Given the description of an element on the screen output the (x, y) to click on. 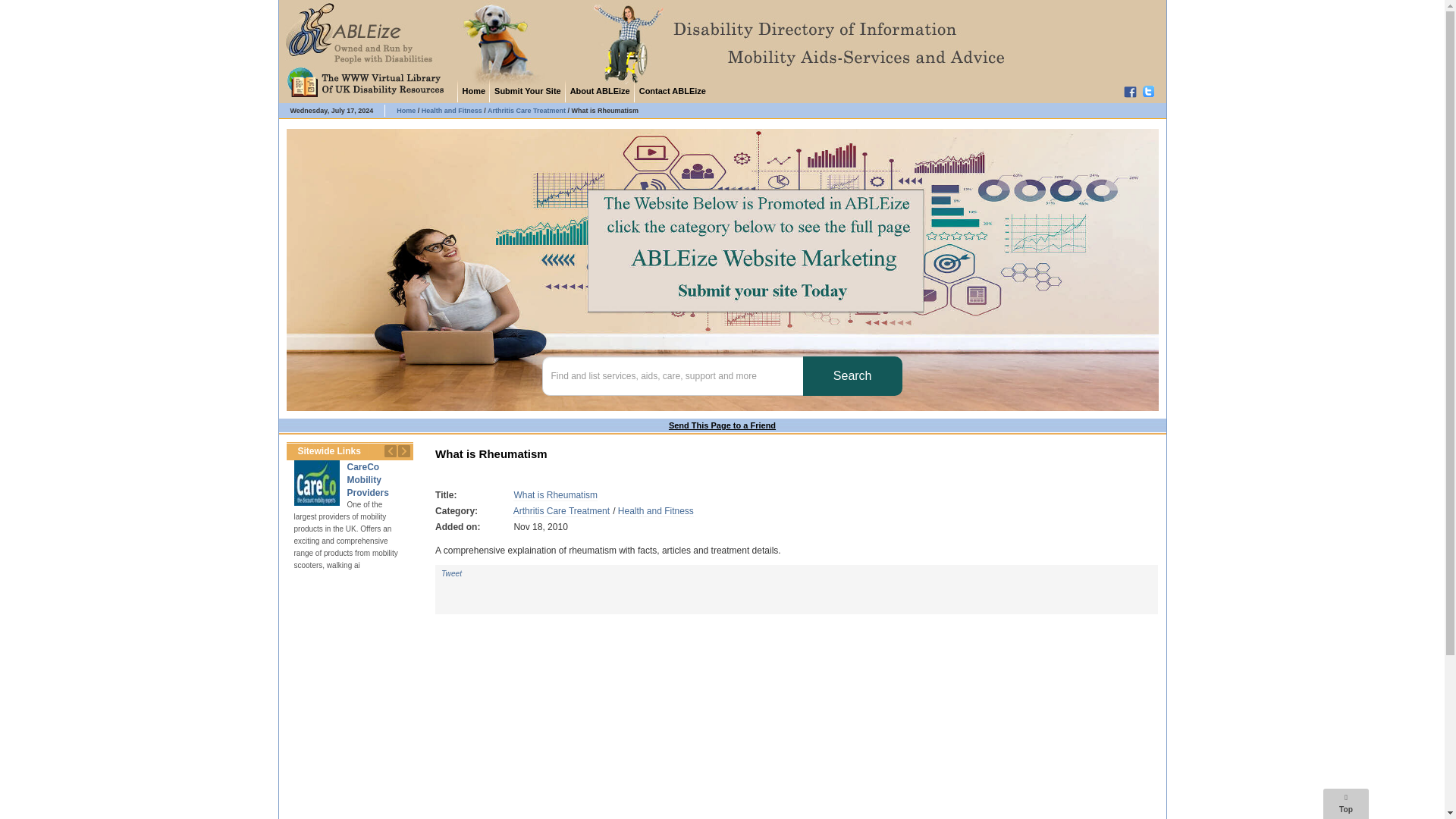
Health and Fitness (451, 110)
Home (405, 110)
Search (852, 375)
Contact ABLEize (672, 90)
Health and Fitness (655, 511)
Search (852, 375)
Twitter (1150, 91)
Facebook (1131, 91)
CareCo Mobility Providers (367, 479)
About ABLEize (599, 90)
Next (404, 450)
CareCo Mobility Providers (316, 483)
Go to ABLEize Disability and Mobility Directory. (405, 110)
Go to the Health and Fitness Directory Category archives. (451, 110)
